Given the description of an element on the screen output the (x, y) to click on. 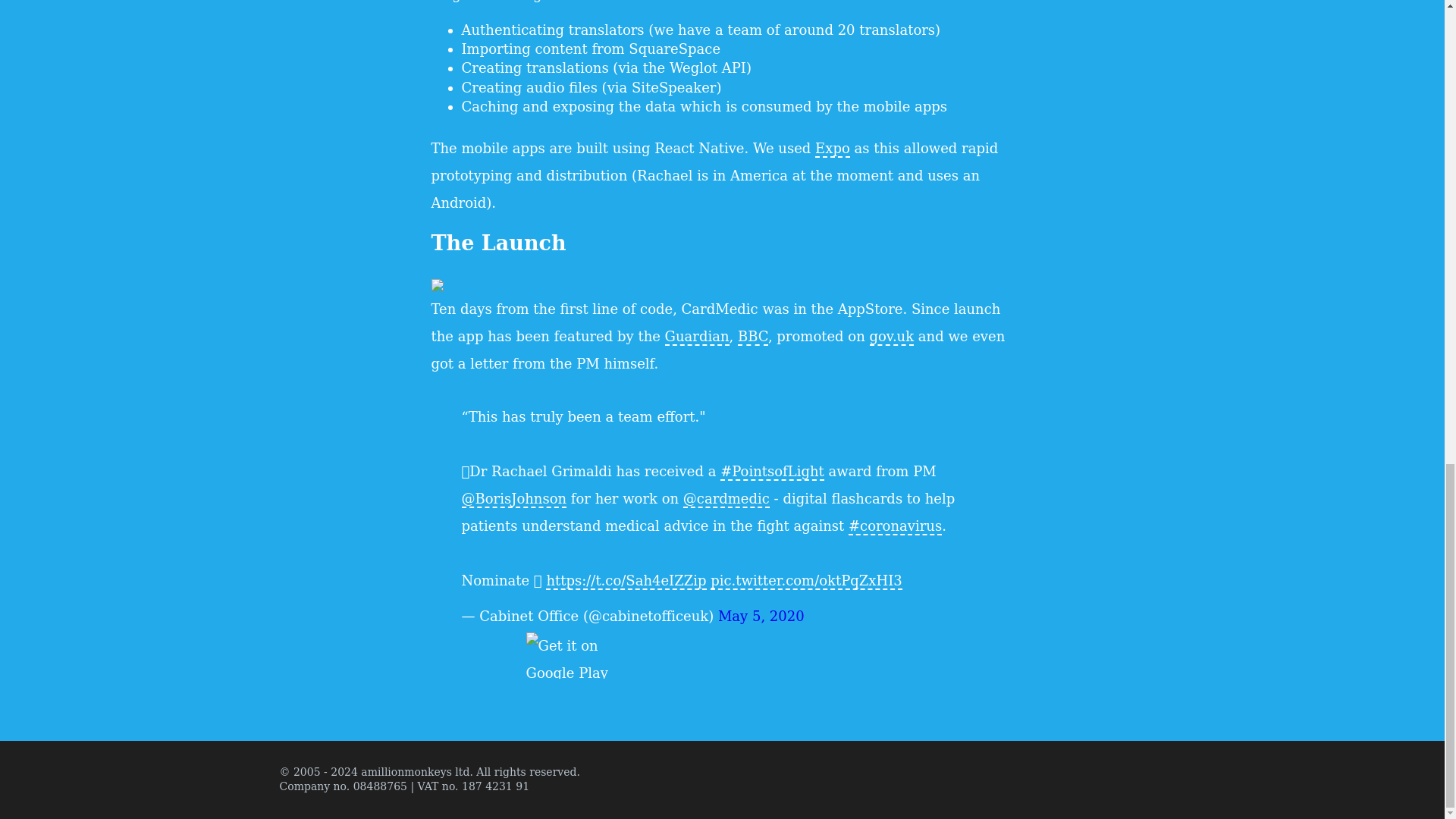
gov.uk (891, 336)
May 5, 2020 (761, 616)
Expo (832, 149)
BBC (753, 336)
Guardian (697, 336)
